Given the description of an element on the screen output the (x, y) to click on. 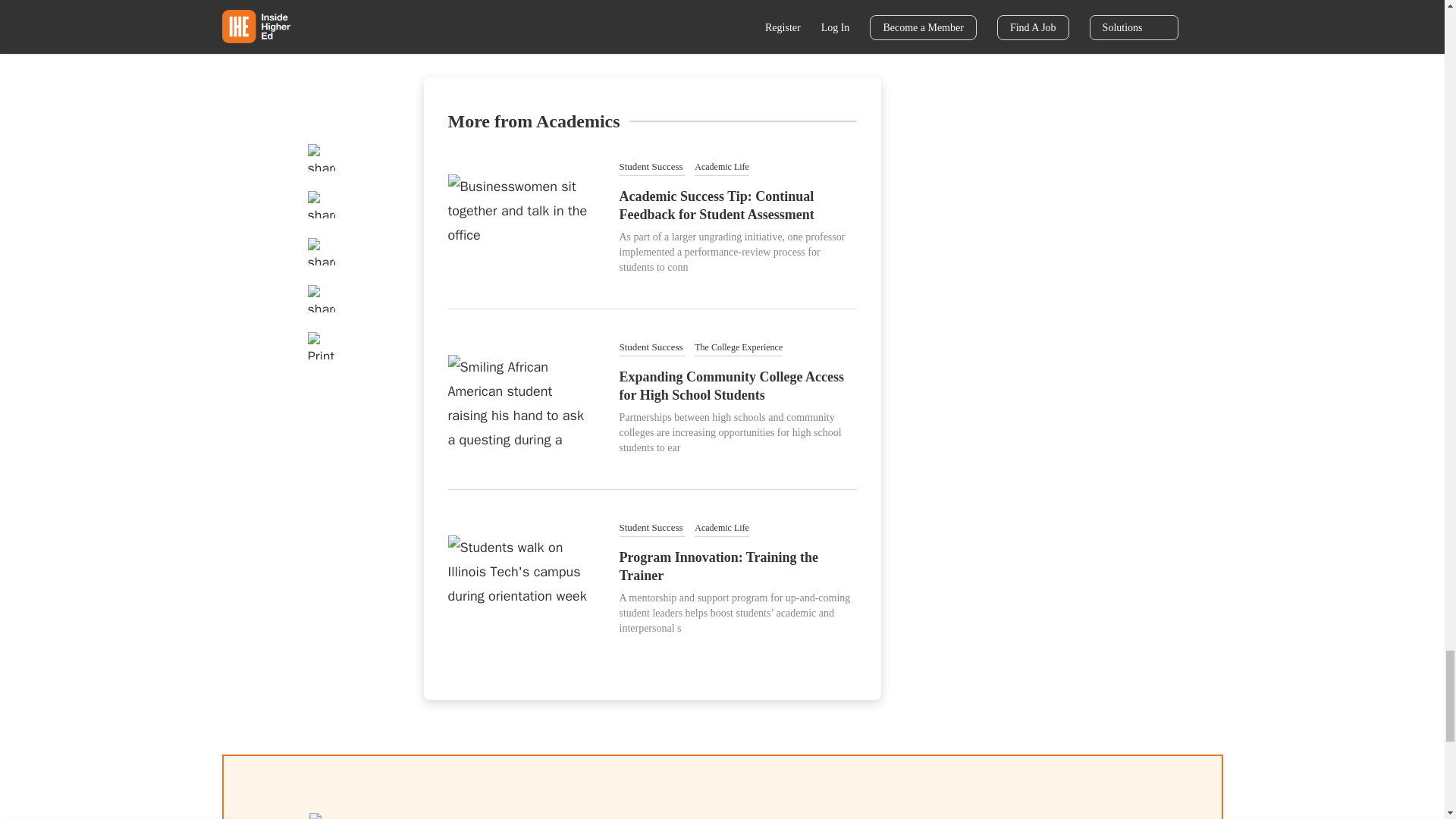
share to facebook (445, 0)
